Given the description of an element on the screen output the (x, y) to click on. 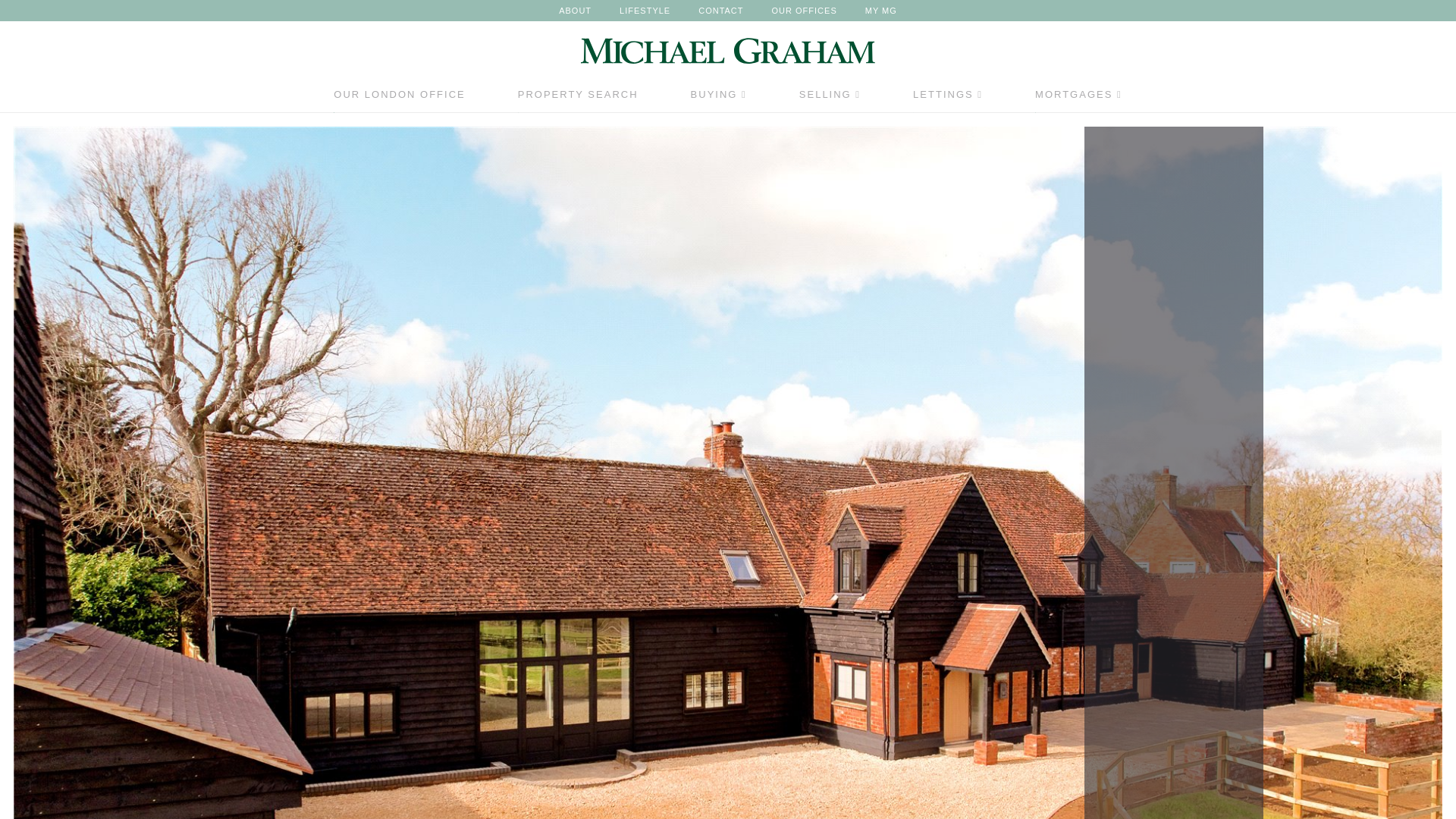
SELLING (829, 99)
BUYING (718, 99)
LETTINGS (947, 99)
ABOUT (575, 10)
CONTACT (720, 10)
PROPERTY SEARCH (578, 99)
LIFESTYLE (644, 10)
OUR LONDON OFFICE (398, 99)
MORTGAGES (1078, 99)
MY MG (880, 10)
